Given the description of an element on the screen output the (x, y) to click on. 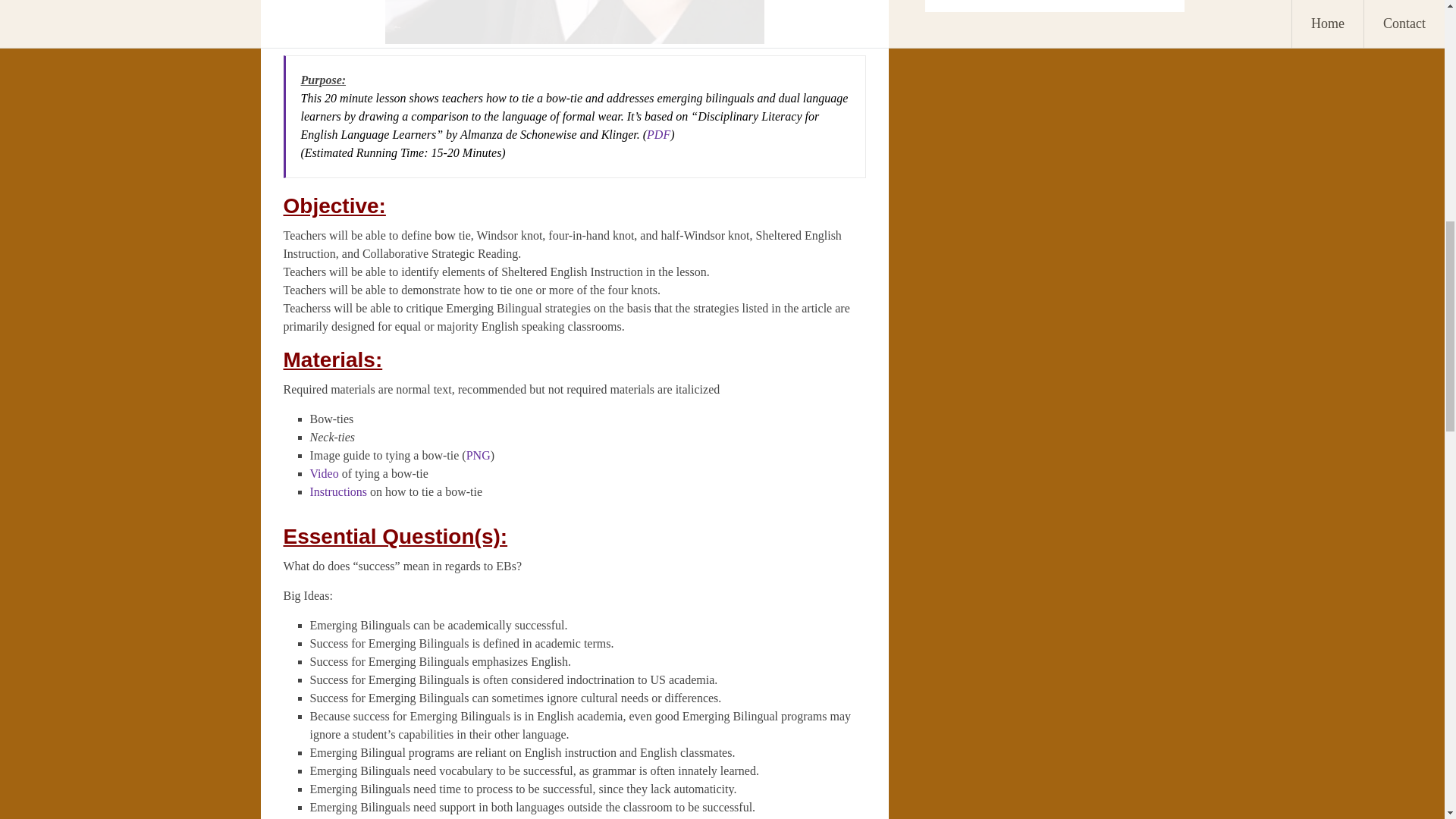
Video (322, 472)
PNG (477, 454)
PDF (657, 133)
Instructions (337, 491)
